Given the description of an element on the screen output the (x, y) to click on. 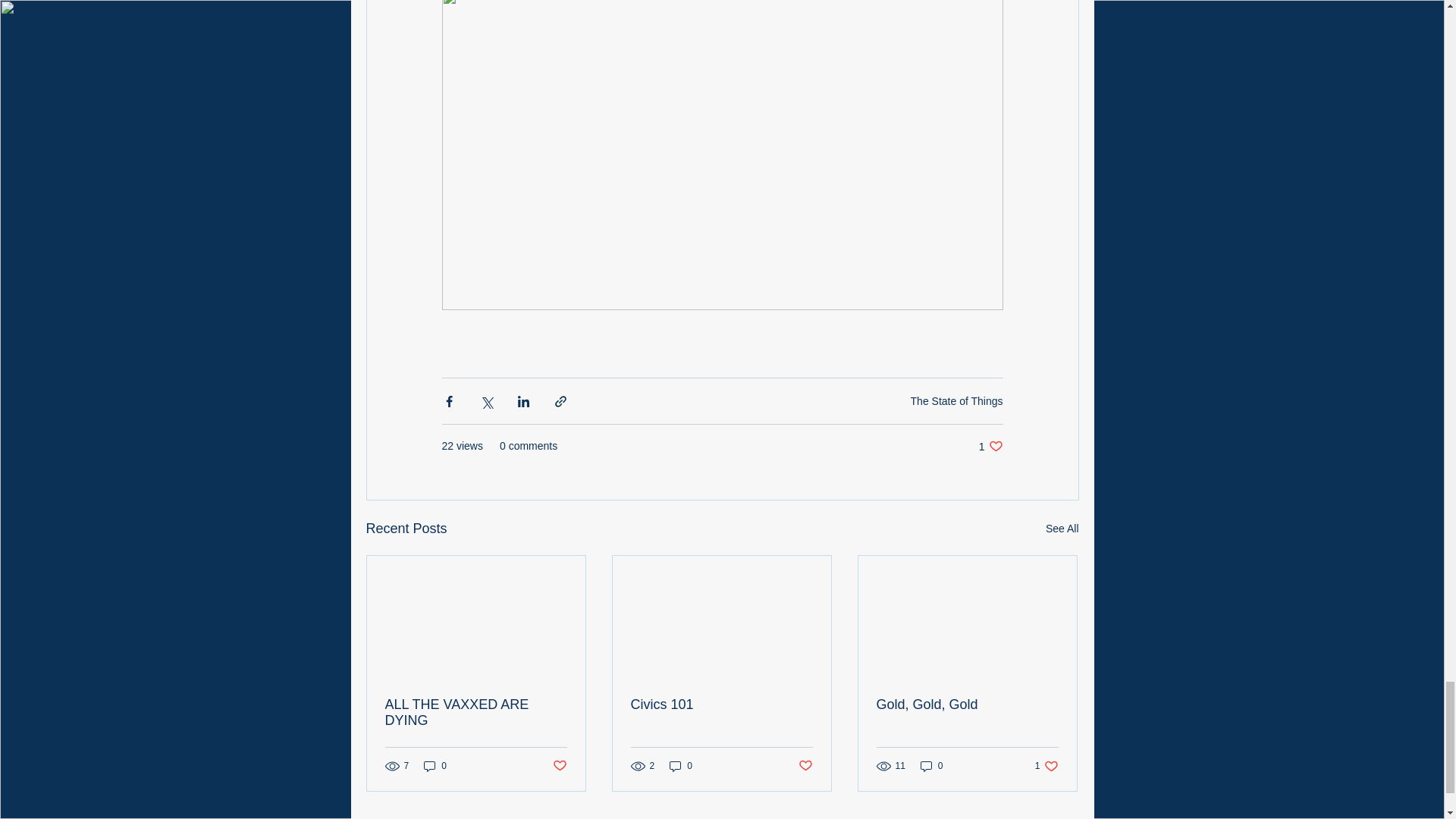
The State of Things (957, 400)
0 (681, 766)
ALL THE VAXXED ARE DYING (990, 445)
0 (476, 712)
Post not marked as liked (931, 766)
0 (804, 765)
See All (435, 766)
Gold, Gold, Gold (1061, 528)
Civics 101 (967, 704)
Post not marked as liked (721, 704)
